Given the description of an element on the screen output the (x, y) to click on. 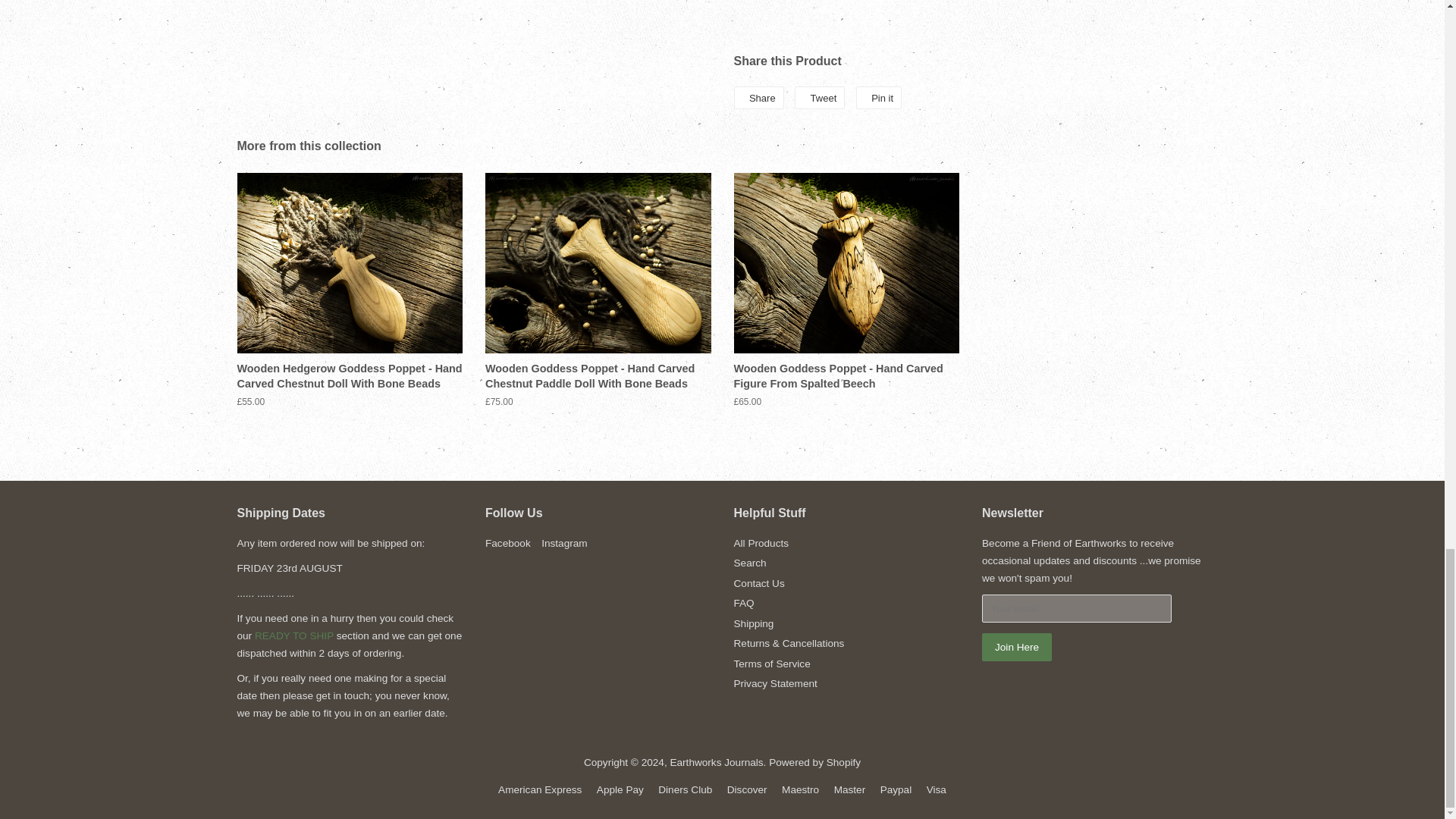
Ready To Ship (293, 635)
Pin on Pinterest (878, 97)
Earthworks Journals on Facebook (507, 542)
Earthworks Journals on Instagram (563, 542)
Share on Facebook (758, 97)
Tweet on Twitter (819, 97)
Join Here (1016, 646)
